Given the description of an element on the screen output the (x, y) to click on. 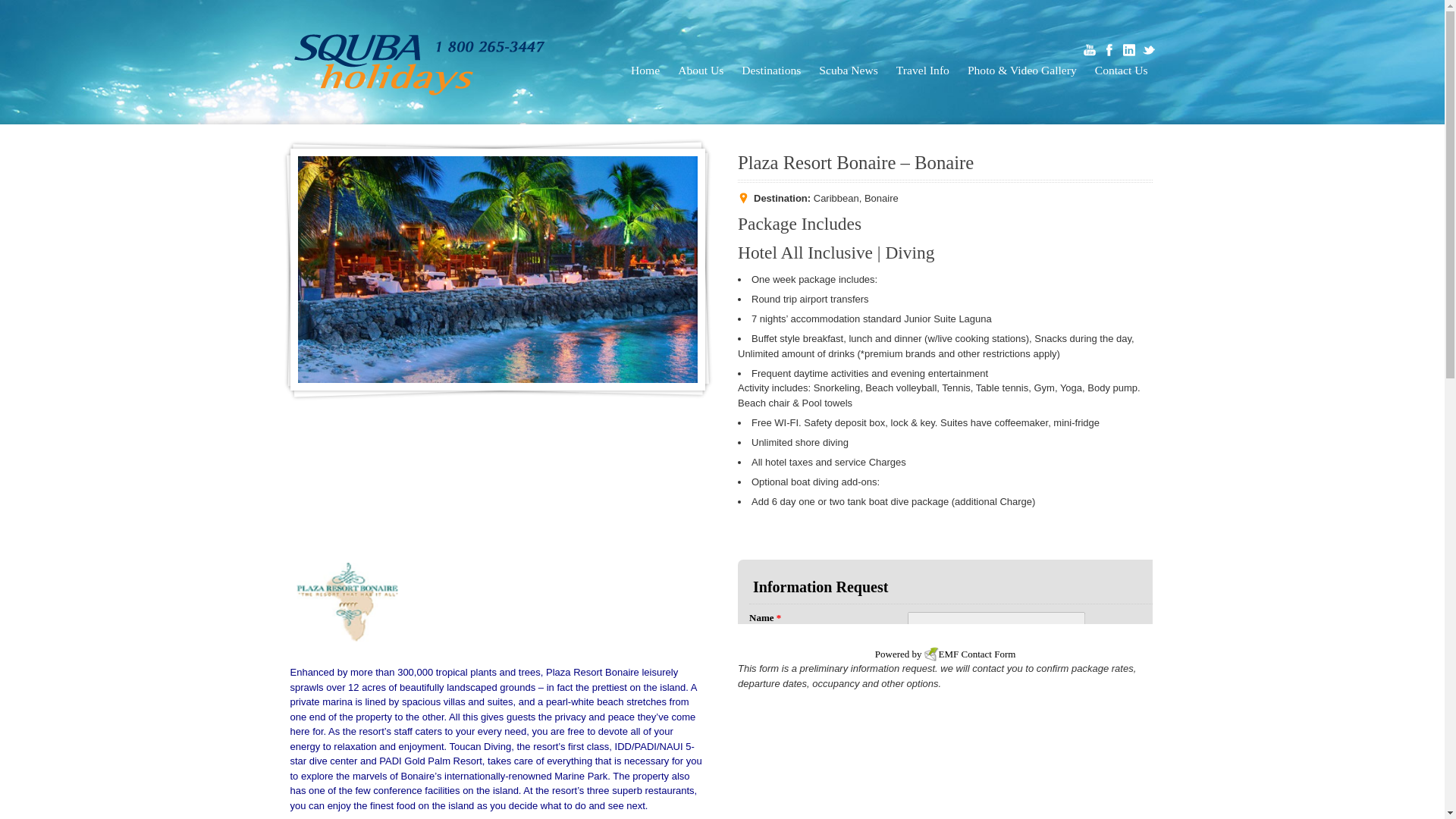
Facebook (1108, 50)
Scuba News (848, 69)
Travel Info (922, 69)
About Us (700, 69)
Contact Us (1120, 69)
Home (645, 69)
Contact Form (988, 654)
LinkedIn (1128, 50)
Twitter (1147, 50)
Destinations (771, 69)
